Given the description of an element on the screen output the (x, y) to click on. 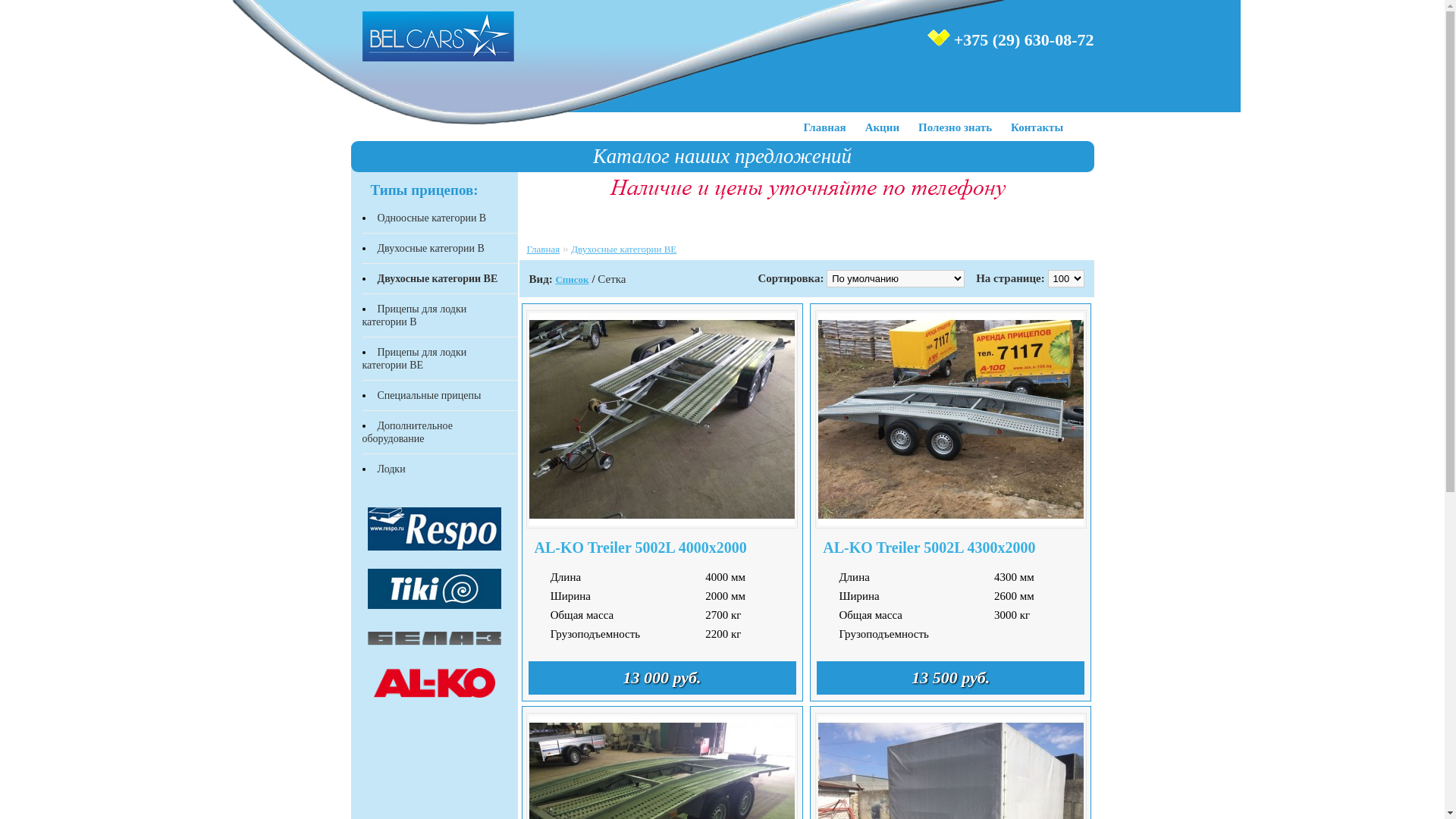
AL-KO Treiler 5002L 4000x2000 Element type: text (661, 543)
AL-KO Treiler 5002L 4000x2000 Element type: hover (661, 419)
respo Element type: hover (433, 528)
AL-KO Treiler 5002L 4300x2000 Element type: text (950, 543)
tiki Element type: hover (433, 588)
AL-KO Treiler 5002L 4300x2000 Element type: hover (950, 419)
